Given the description of an element on the screen output the (x, y) to click on. 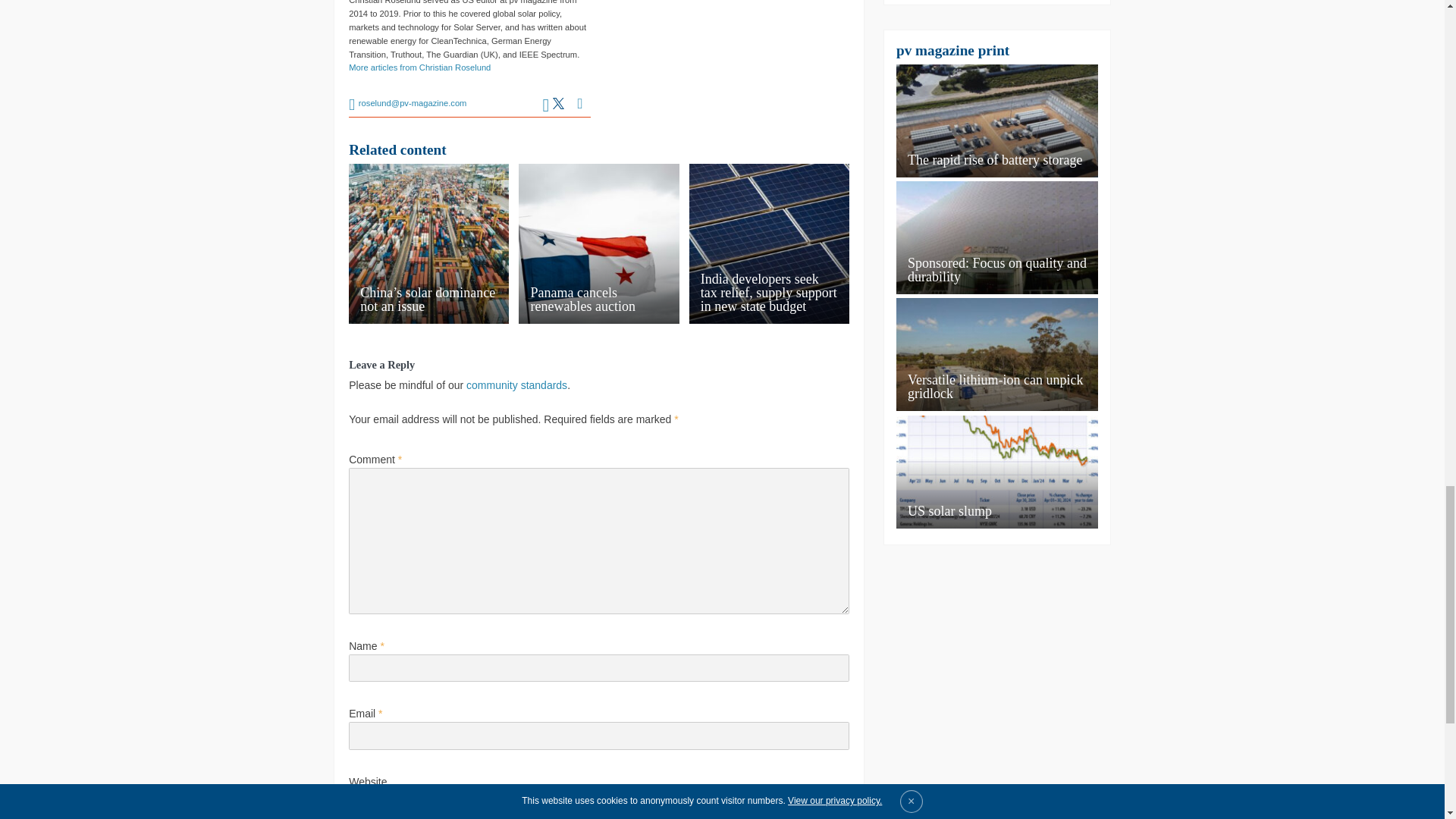
3rd party ad content (727, 63)
